Given the description of an element on the screen output the (x, y) to click on. 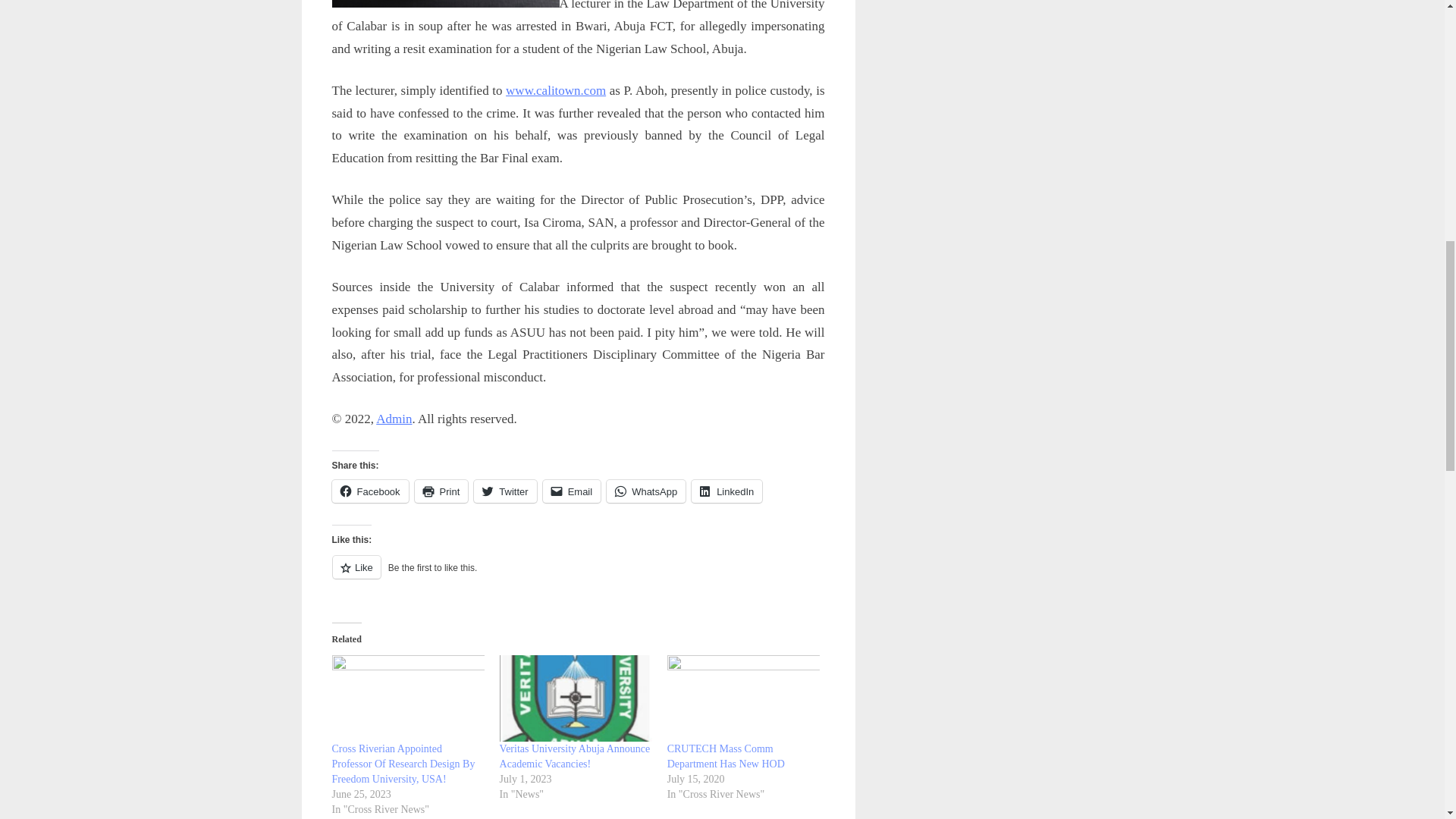
Veritas University Abuja Announce Academic Vacancies! (575, 698)
Like or Reblog (578, 576)
CRUTECH Mass Comm Department Has New HOD (725, 755)
Click to share on WhatsApp (646, 490)
Veritas University Abuja Announce Academic Vacancies! (574, 755)
Click to print (441, 490)
Click to share on Facebook (370, 490)
Click to share on LinkedIn (726, 490)
